Given the description of an element on the screen output the (x, y) to click on. 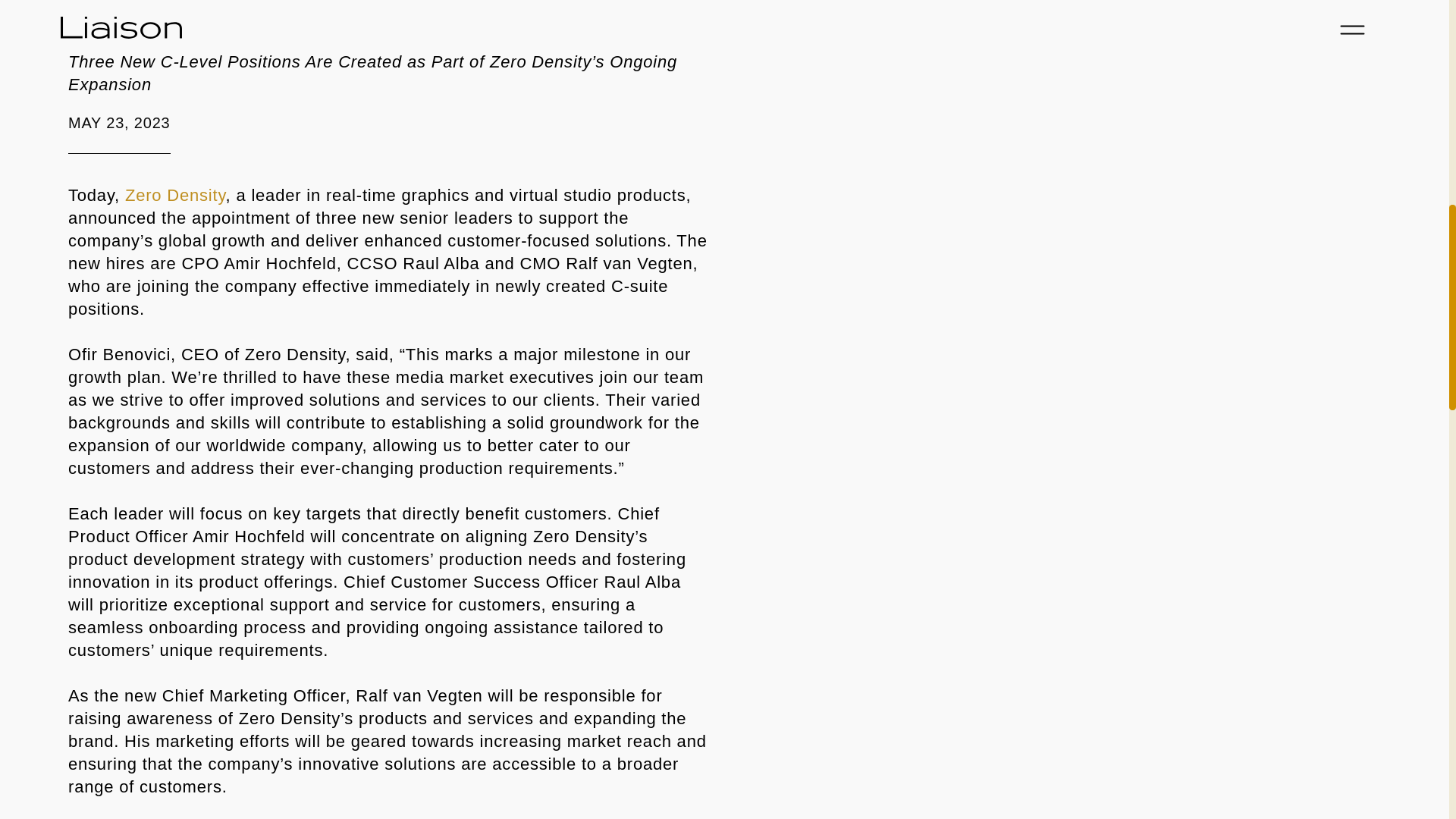
Zero Density (172, 194)
